Given the description of an element on the screen output the (x, y) to click on. 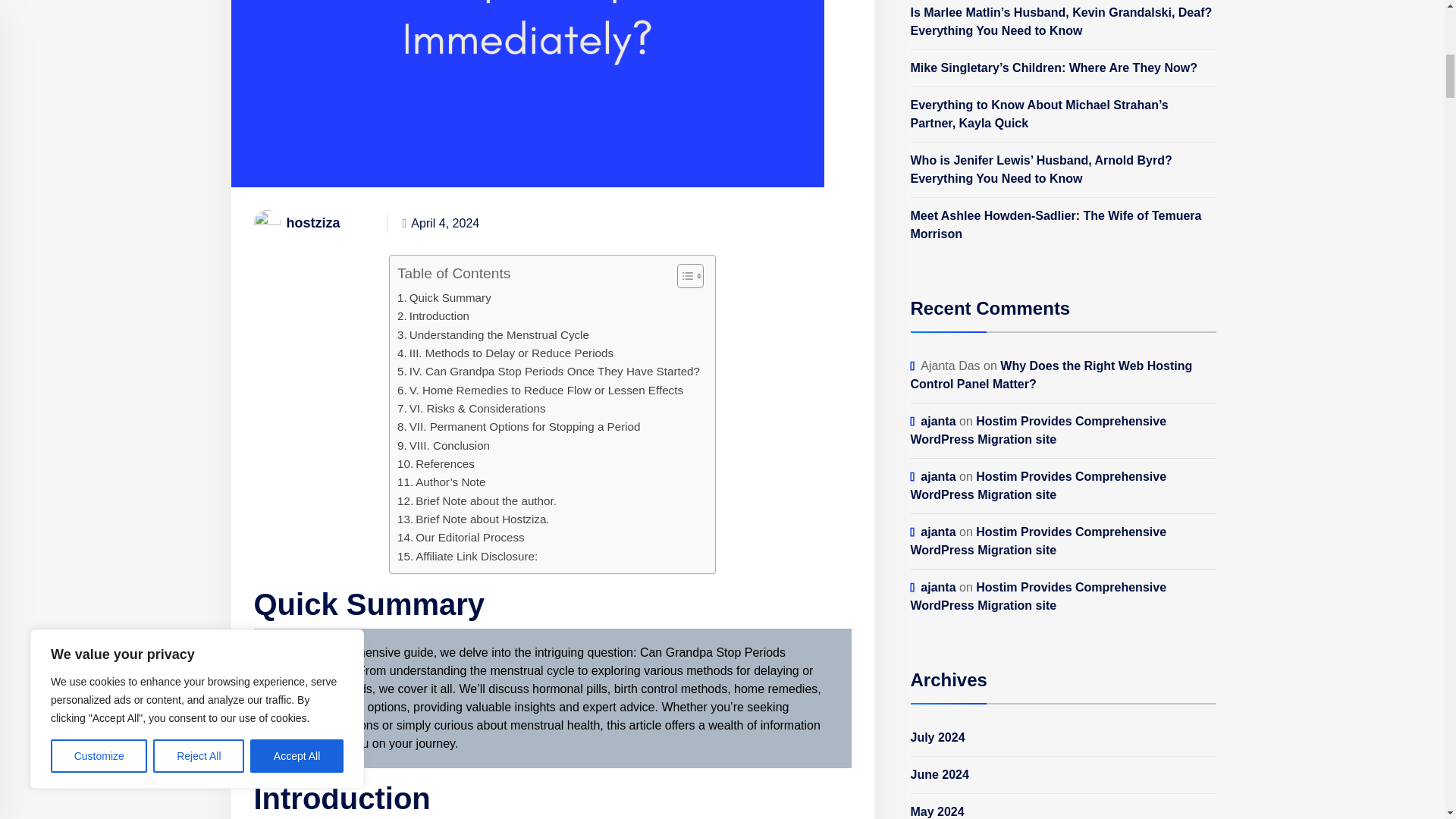
III. Methods to Delay or Reduce Periods (504, 352)
hostziza (296, 222)
Understanding the Menstrual Cycle (493, 334)
Quick Summary (444, 298)
Introduction (432, 316)
IV. Can Grandpa Stop Periods Once They Have Started? (548, 371)
V. Home Remedies to Reduce Flow or Lessen Effects (539, 390)
